Given the description of an element on the screen output the (x, y) to click on. 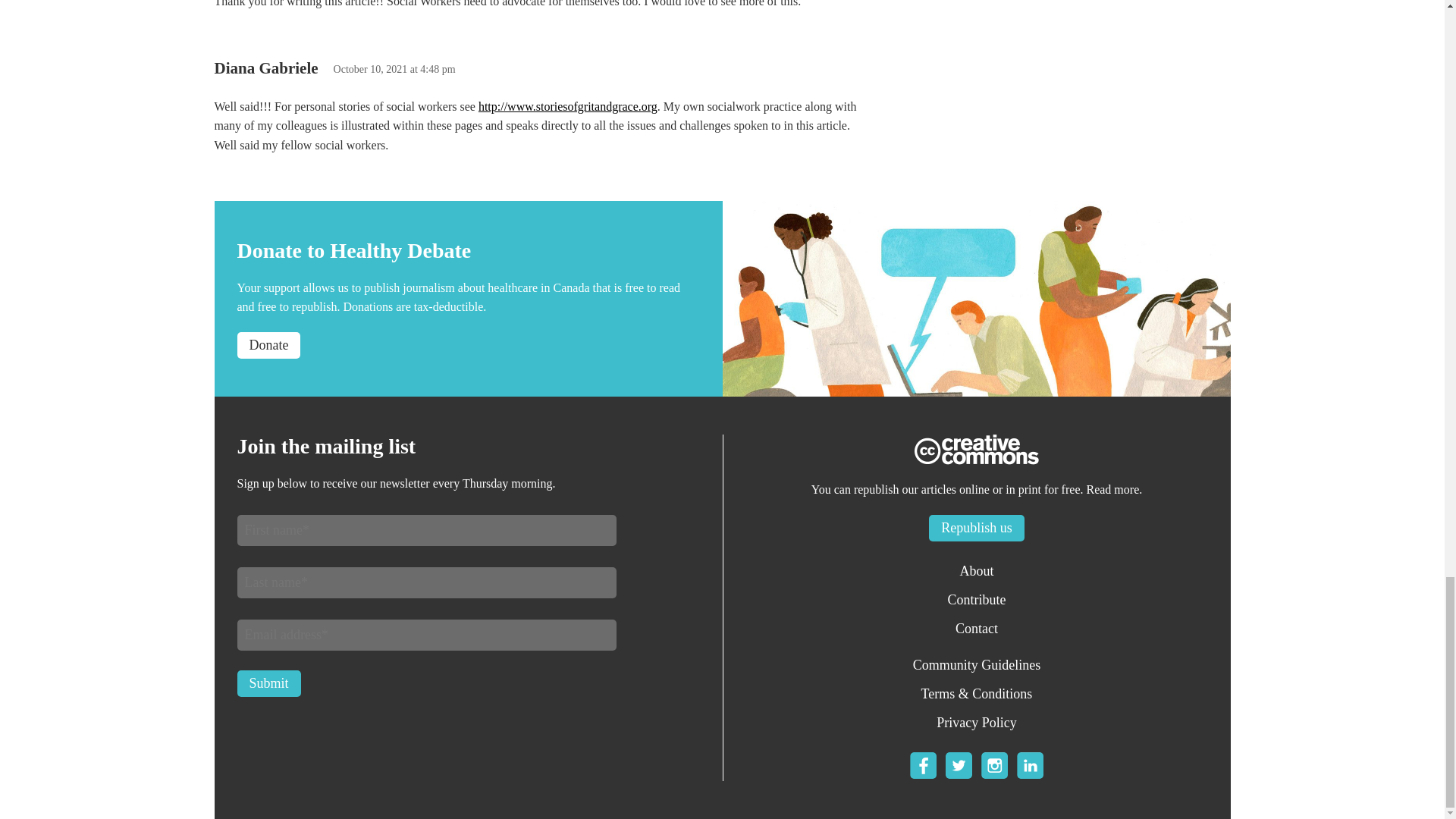
Submit (267, 683)
